Given the description of an element on the screen output the (x, y) to click on. 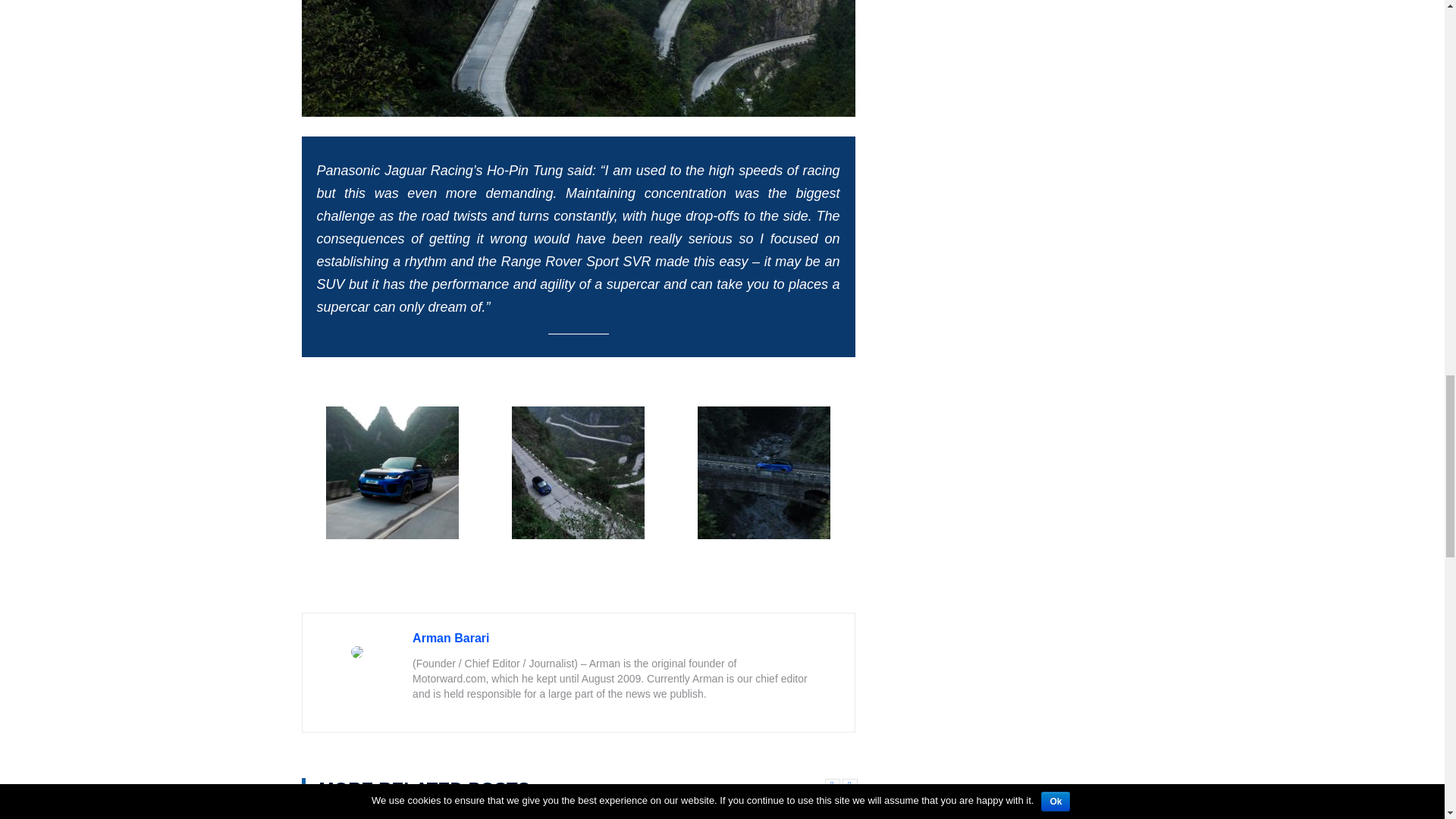
Self Driving Range Rover Sport 1 550x360 (365, 813)
Posts by Arman Barari (450, 637)
Range Rover Sport SVR Tinamen 3 175x175 (578, 472)
Range Rover Sport SVR Tinamen 5 730x314 (578, 58)
GL 5i image 2 550x360 (649, 813)
Range Rover Sport SVR Tinamen 4 175x175 (763, 472)
Overfinch range rover 2018 0 550x360 (507, 813)
Range Rover Sport SVR Tinamen 2 175x175 (392, 472)
2 wheel range rover 1 550x360 (792, 813)
